Given the description of an element on the screen output the (x, y) to click on. 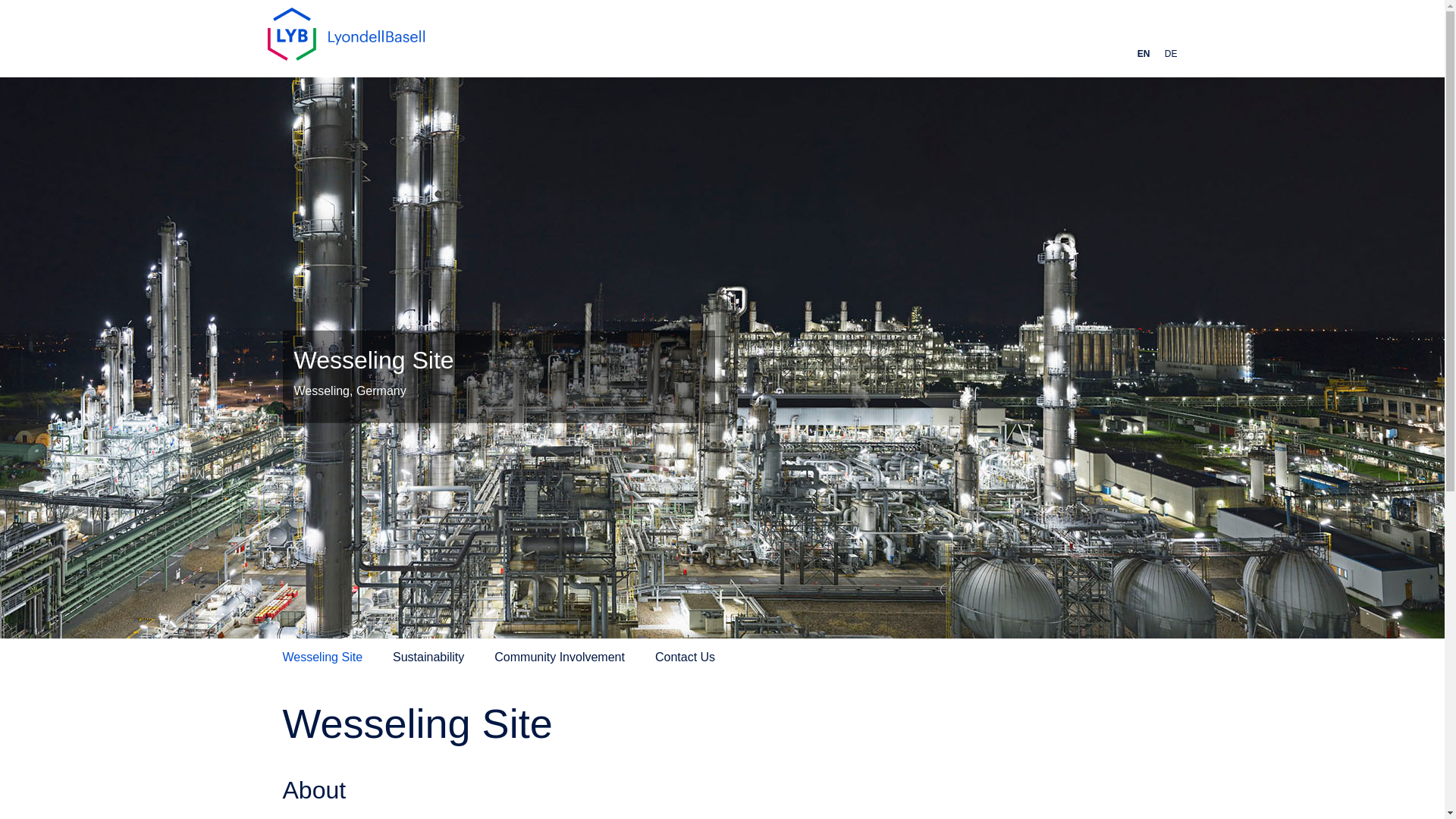
DE (1170, 54)
Wesseling Site (322, 657)
Community Involvement (559, 657)
Sustainability (428, 657)
Contact Us (684, 657)
EN (1143, 54)
